Given the description of an element on the screen output the (x, y) to click on. 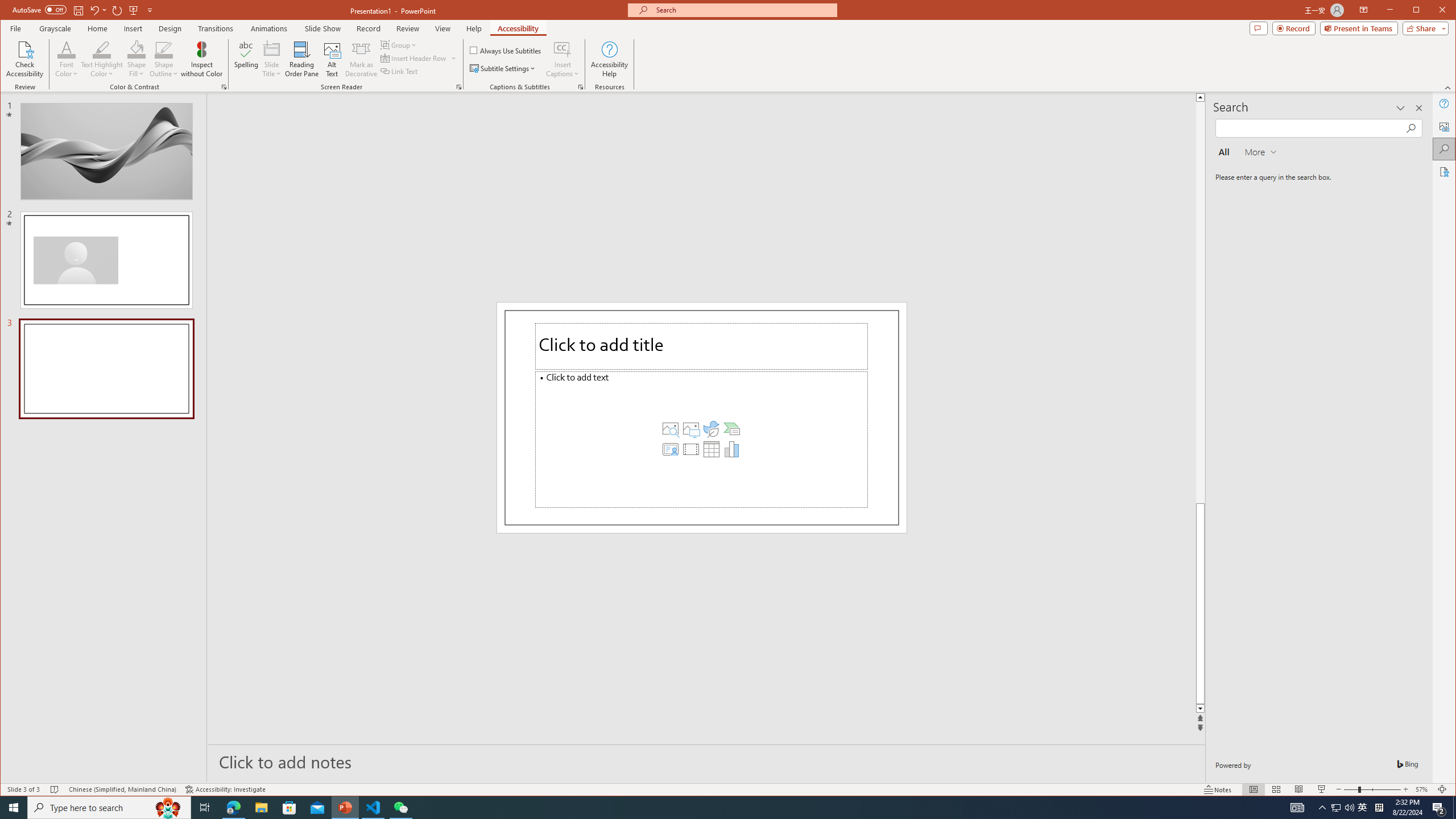
Notification Chevron (1322, 807)
Type here to search (108, 807)
Start (13, 807)
Stock Images (670, 428)
Alt Text (331, 59)
Check Accessibility (25, 59)
Running applications (707, 807)
Q2790: 100% (1349, 807)
